Given the description of an element on the screen output the (x, y) to click on. 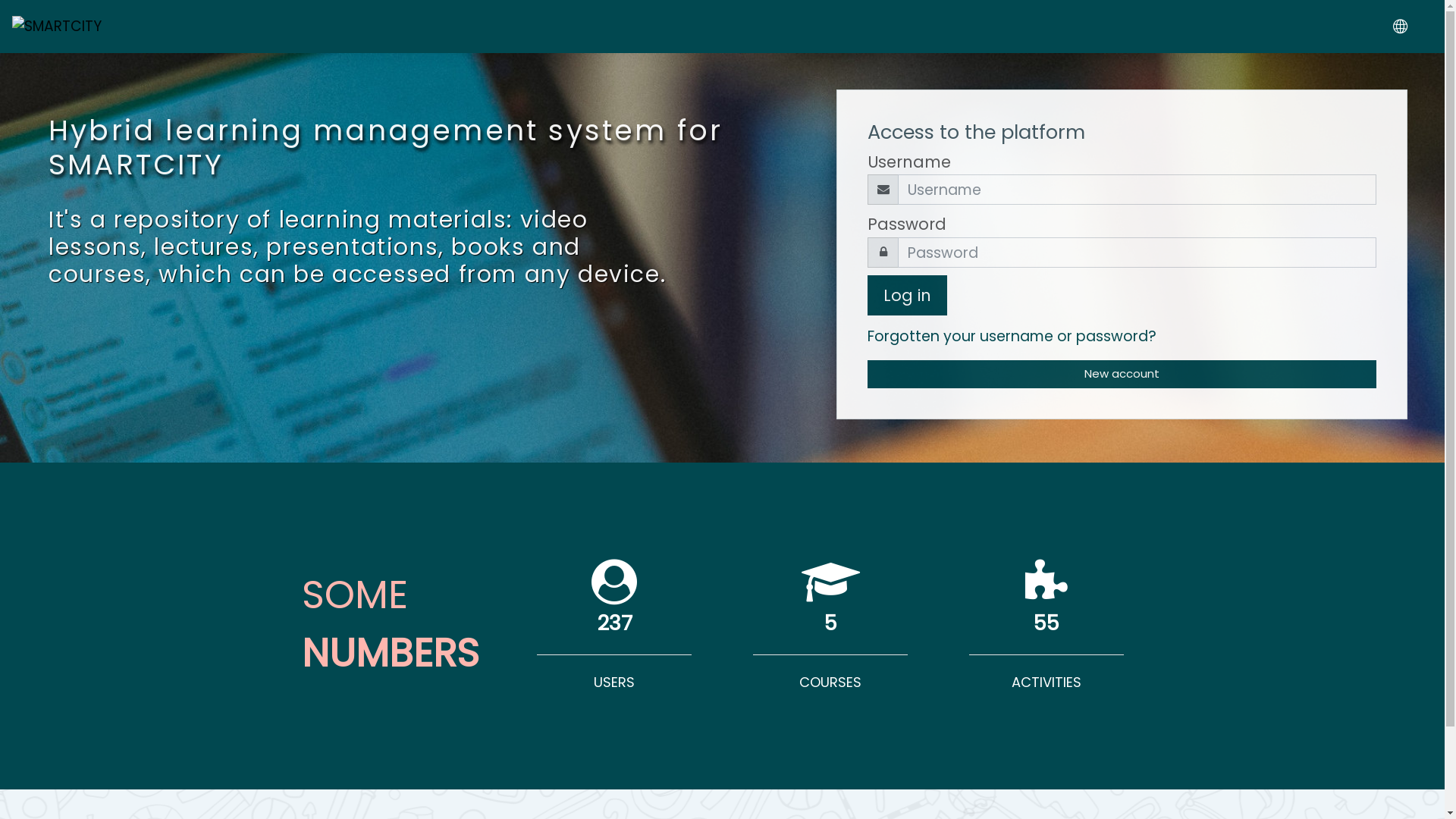
New account Element type: text (1121, 374)
Forgotten your username or password? Element type: text (1011, 336)
Log in Element type: text (907, 295)
